Given the description of an element on the screen output the (x, y) to click on. 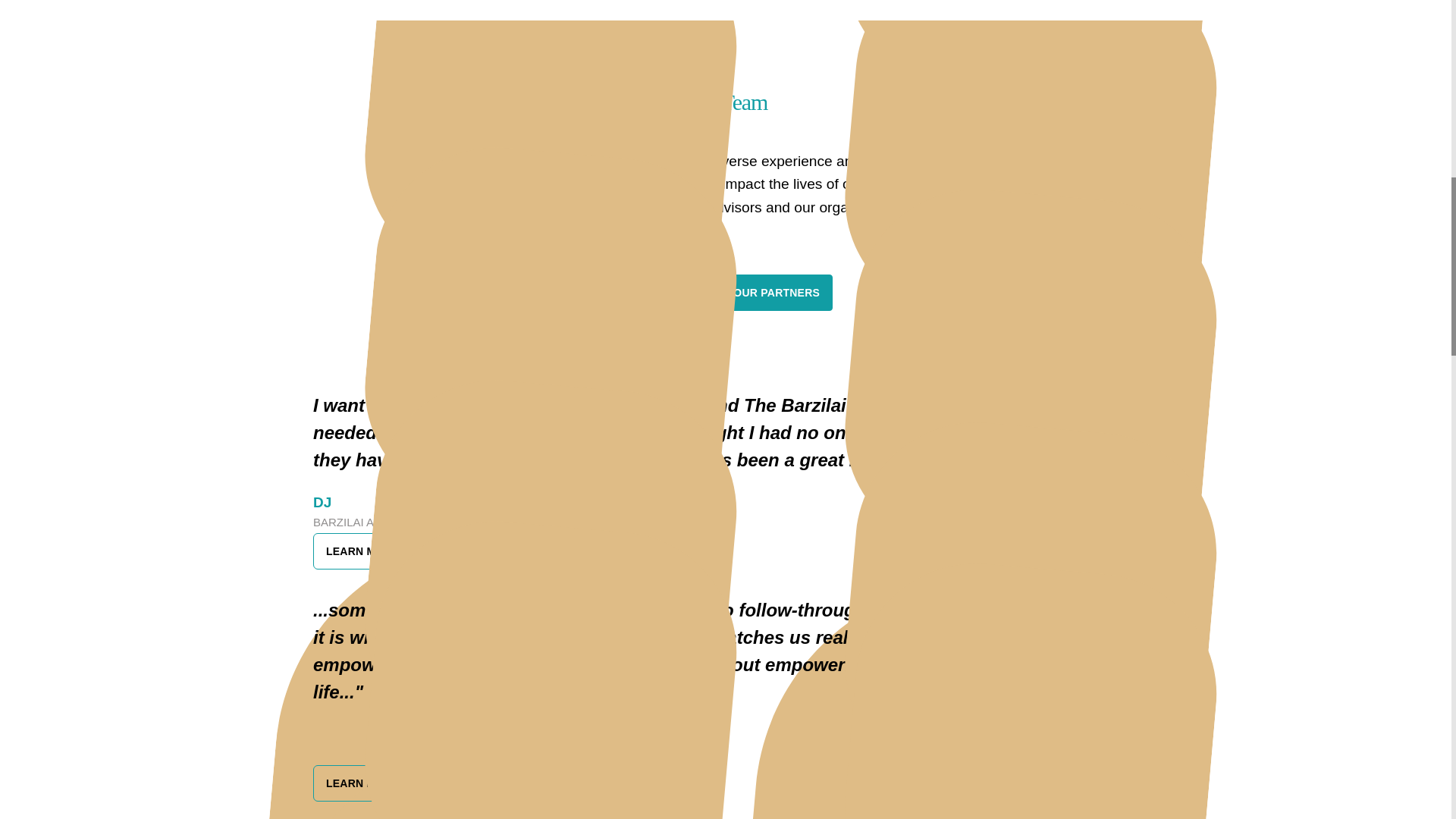
LEARN MORE (362, 781)
READ OUR STORY (725, 9)
OUR PARTNERS (776, 292)
OUR TEAM (659, 292)
LEARN MORE (362, 549)
